Given the description of an element on the screen output the (x, y) to click on. 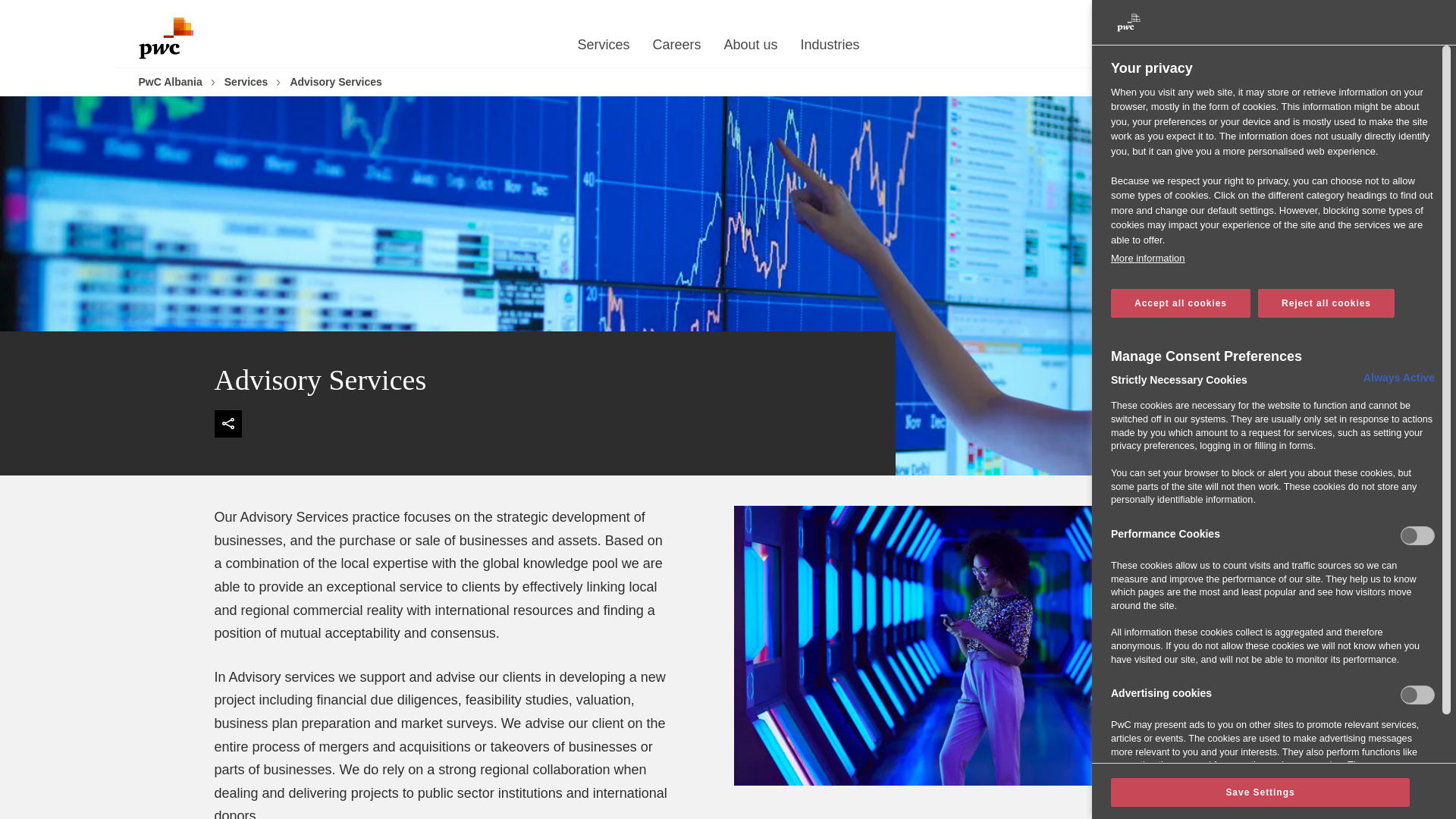
Services (602, 49)
Careers (676, 49)
Albania (1271, 13)
Industries (830, 49)
About us (750, 49)
